Given the description of an element on the screen output the (x, y) to click on. 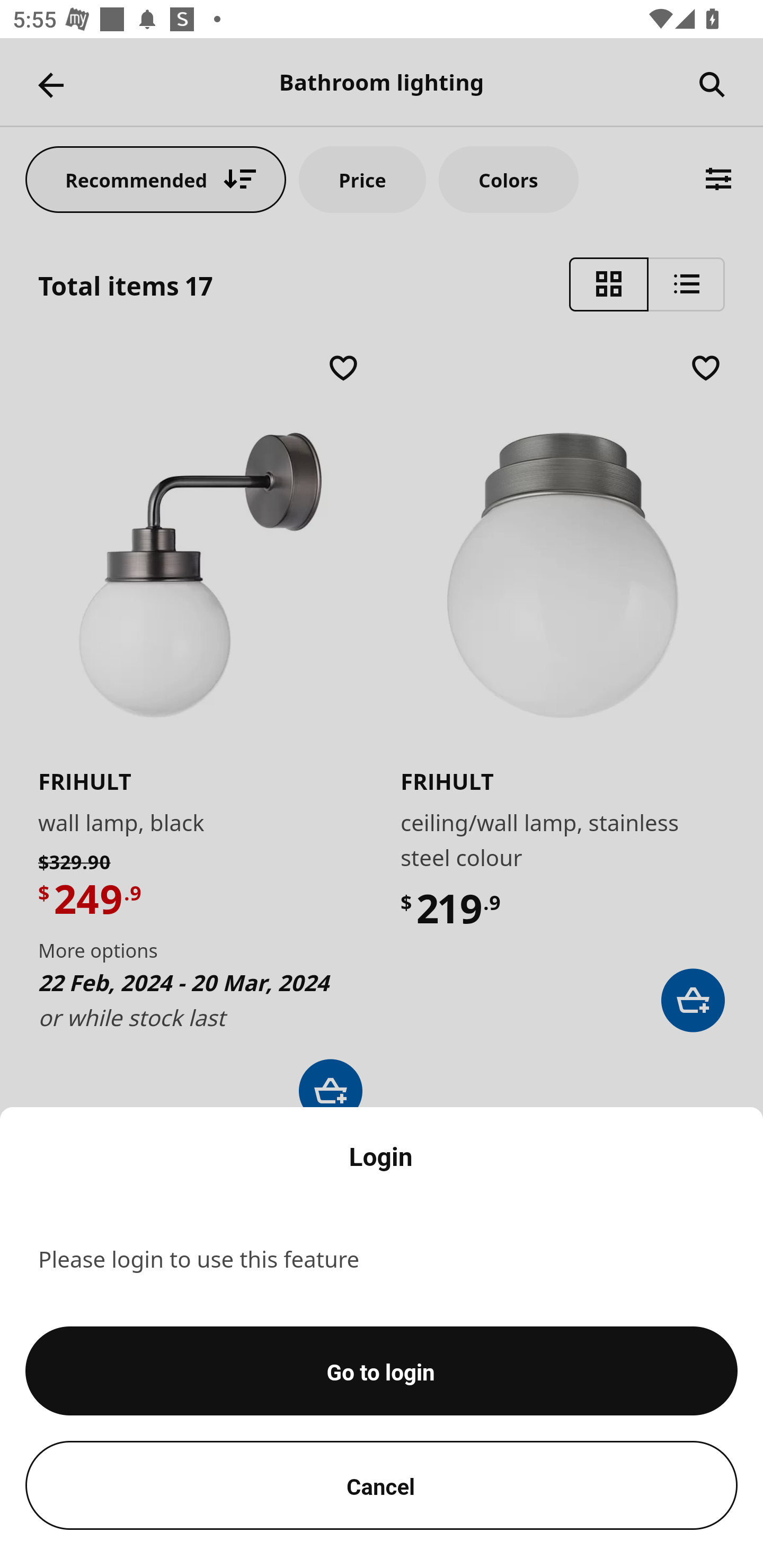
Go to login (381, 1370)
Cancel (381, 1485)
